Given the description of an element on the screen output the (x, y) to click on. 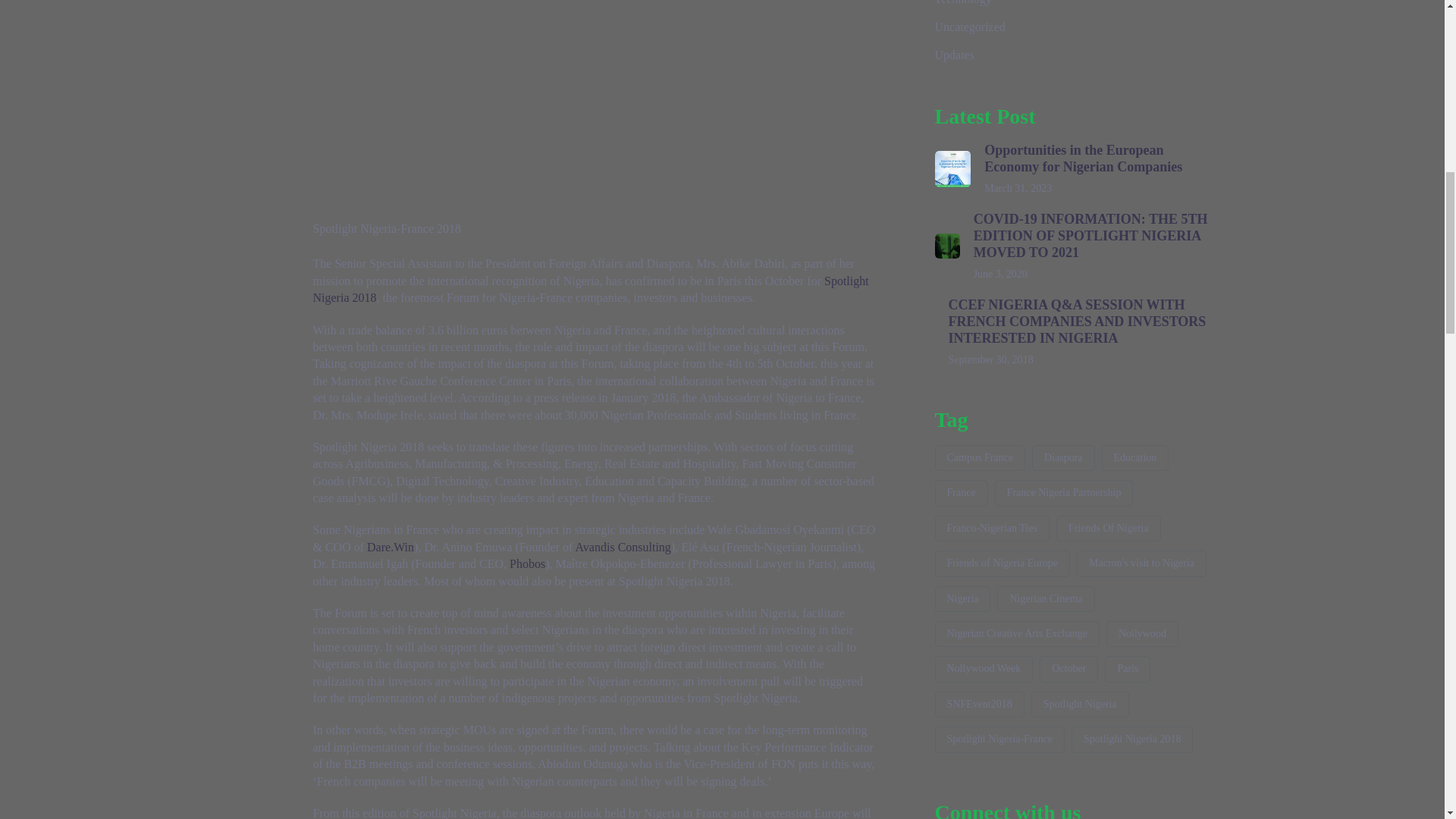
Opportunities-in-the-EU (952, 168)
Avandis Consulting (622, 546)
Spotlight Nigeria 2018 (590, 288)
web-image4 (946, 245)
Phobos (526, 563)
Dare.Win (389, 546)
